Given the description of an element on the screen output the (x, y) to click on. 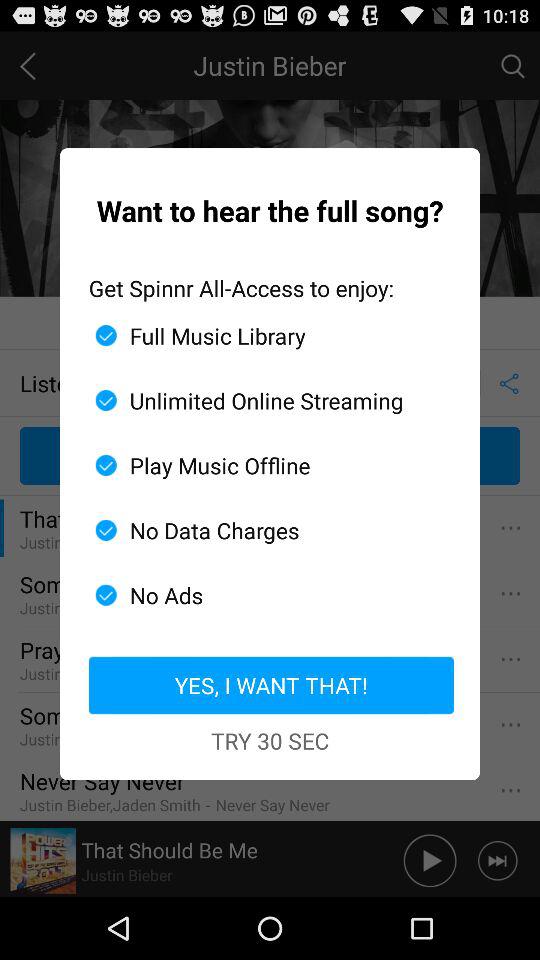
turn off yes i want button (270, 685)
